Given the description of an element on the screen output the (x, y) to click on. 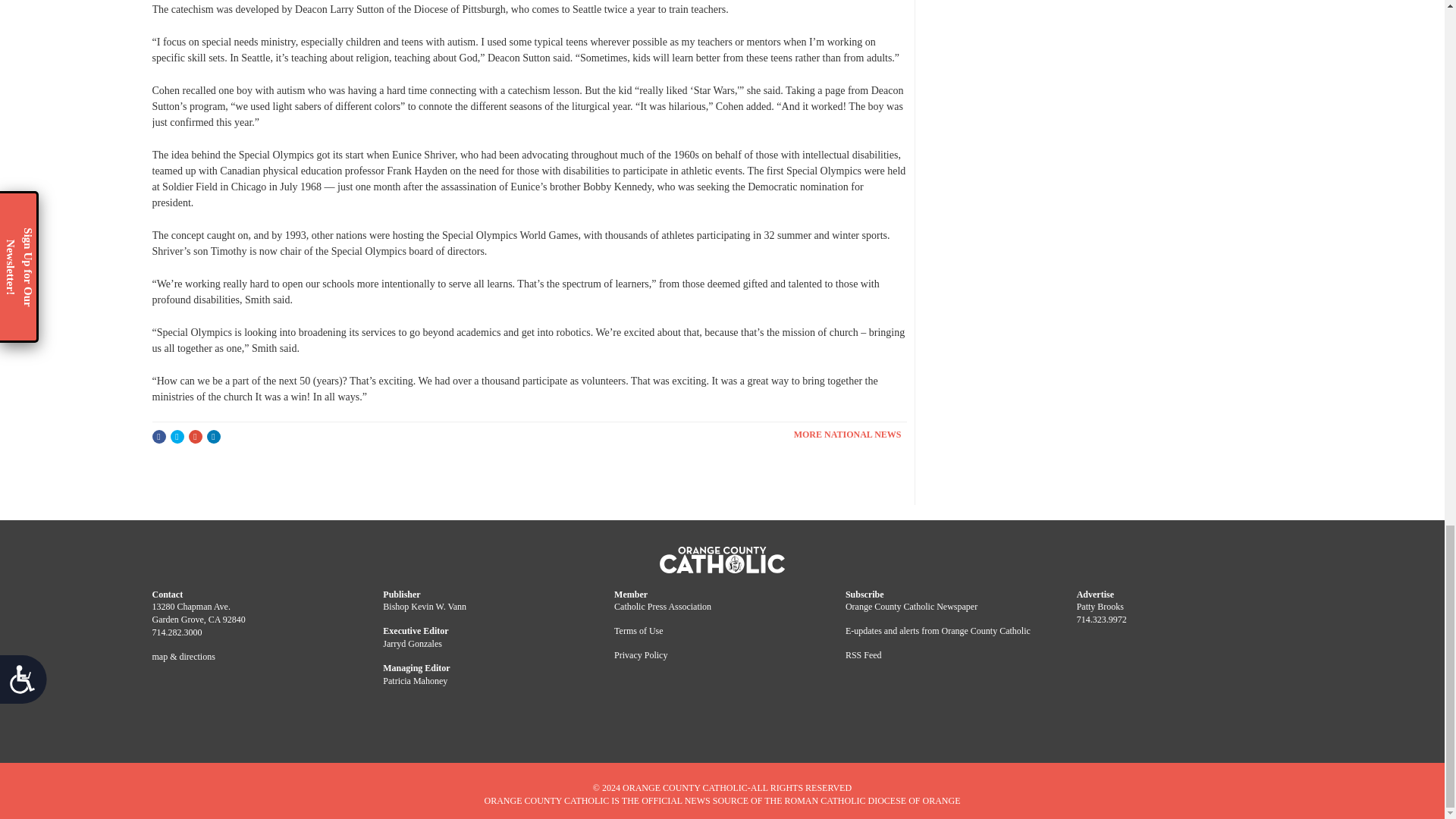
National (850, 434)
MORE NATIONAL NEWS (850, 434)
